Given the description of an element on the screen output the (x, y) to click on. 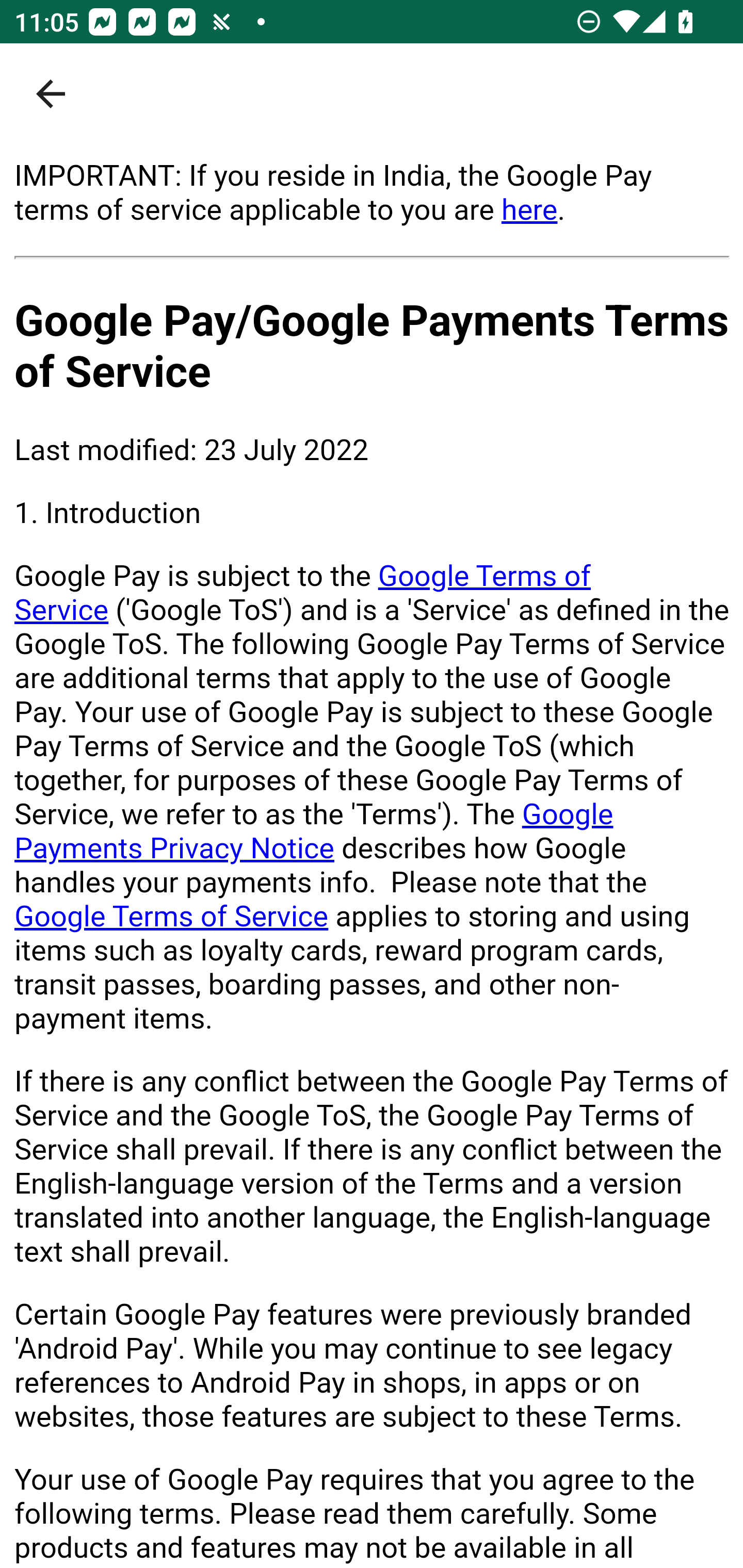
Navigate up (50, 93)
here (528, 209)
Google Terms of Service (303, 593)
Google Payments Privacy Notice (313, 831)
Google Terms of Service (171, 916)
